Given the description of an element on the screen output the (x, y) to click on. 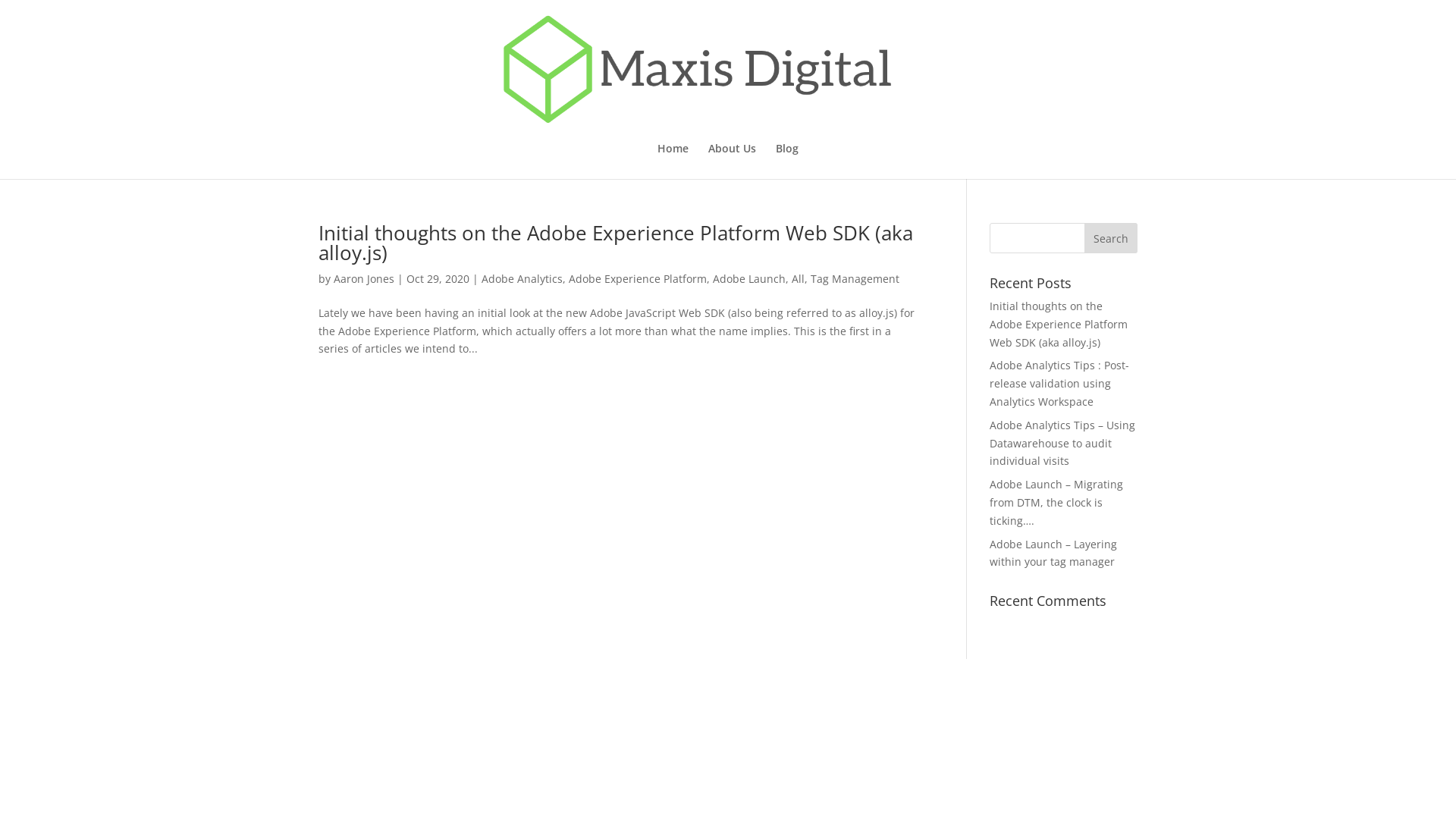
Blog Element type: text (786, 160)
All Element type: text (797, 278)
Tag Management Element type: text (854, 278)
Adobe Launch Element type: text (748, 278)
About Us Element type: text (732, 160)
Adobe Analytics Element type: text (521, 278)
Adobe Experience Platform Element type: text (637, 278)
Home Element type: text (672, 160)
Aaron Jones Element type: text (363, 278)
Search Element type: text (1110, 237)
